Given the description of an element on the screen output the (x, y) to click on. 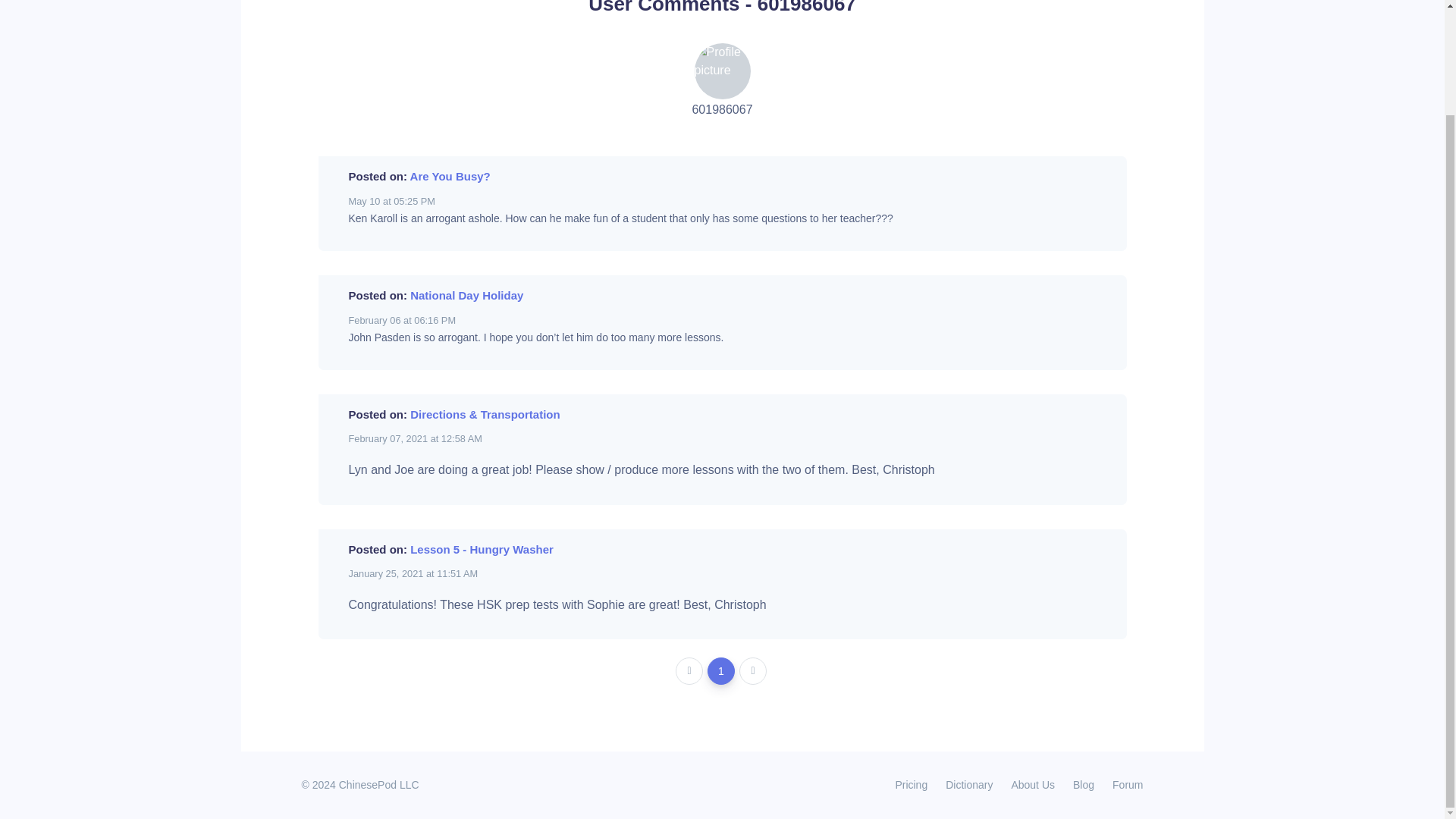
Forum (1122, 784)
About Us (1032, 784)
Blog (1083, 784)
Pricing (910, 784)
1 (721, 670)
Dictionary (968, 784)
National Day Holiday (466, 295)
Lesson 5 - Hungry Washer (481, 549)
Are You Busy? (450, 175)
